Given the description of an element on the screen output the (x, y) to click on. 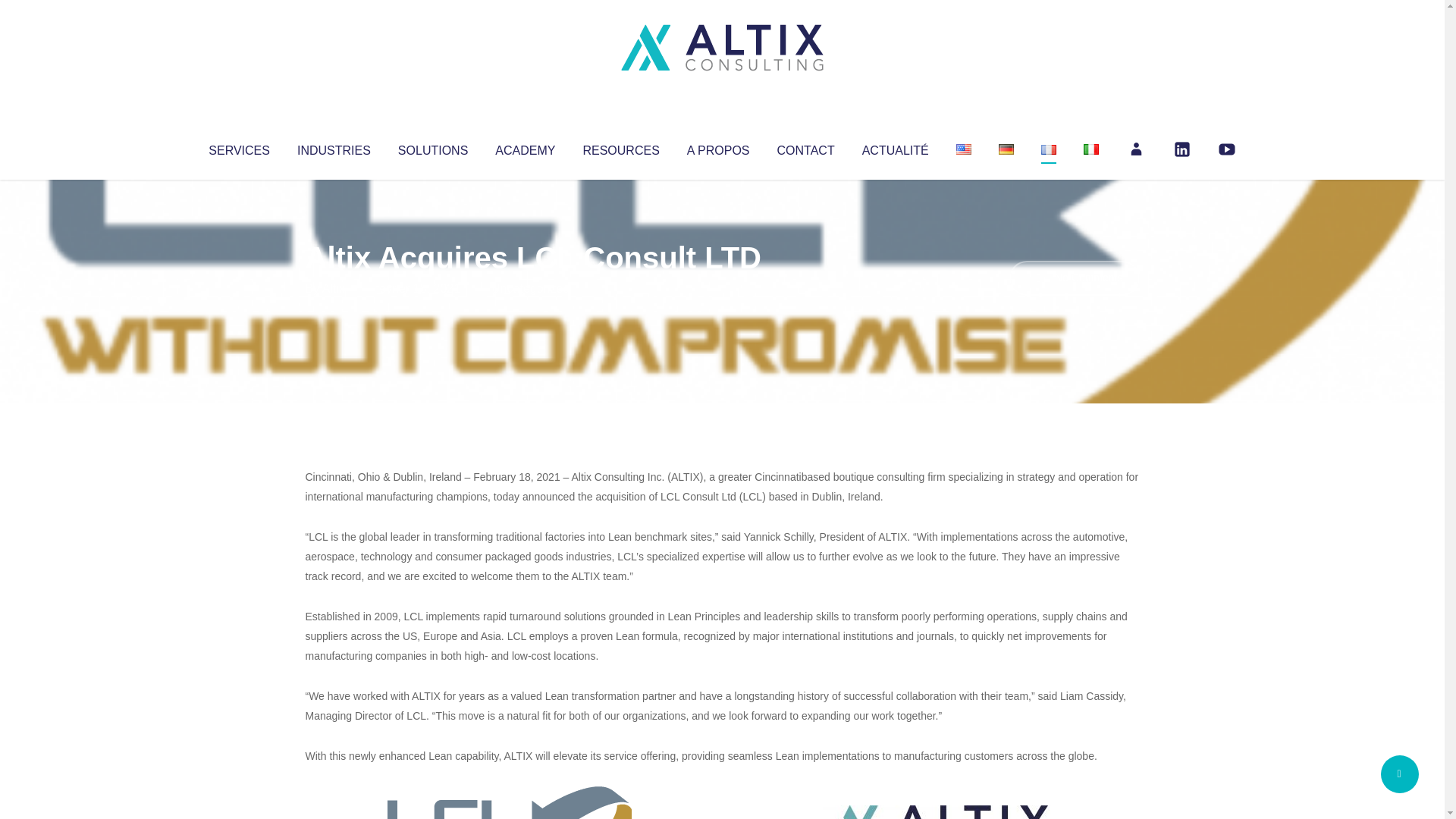
SOLUTIONS (432, 146)
INDUSTRIES (334, 146)
SERVICES (238, 146)
Articles par Altix (333, 287)
No Comments (1073, 278)
Altix (333, 287)
Uncategorized (530, 287)
ACADEMY (524, 146)
RESOURCES (620, 146)
A PROPOS (718, 146)
